Given the description of an element on the screen output the (x, y) to click on. 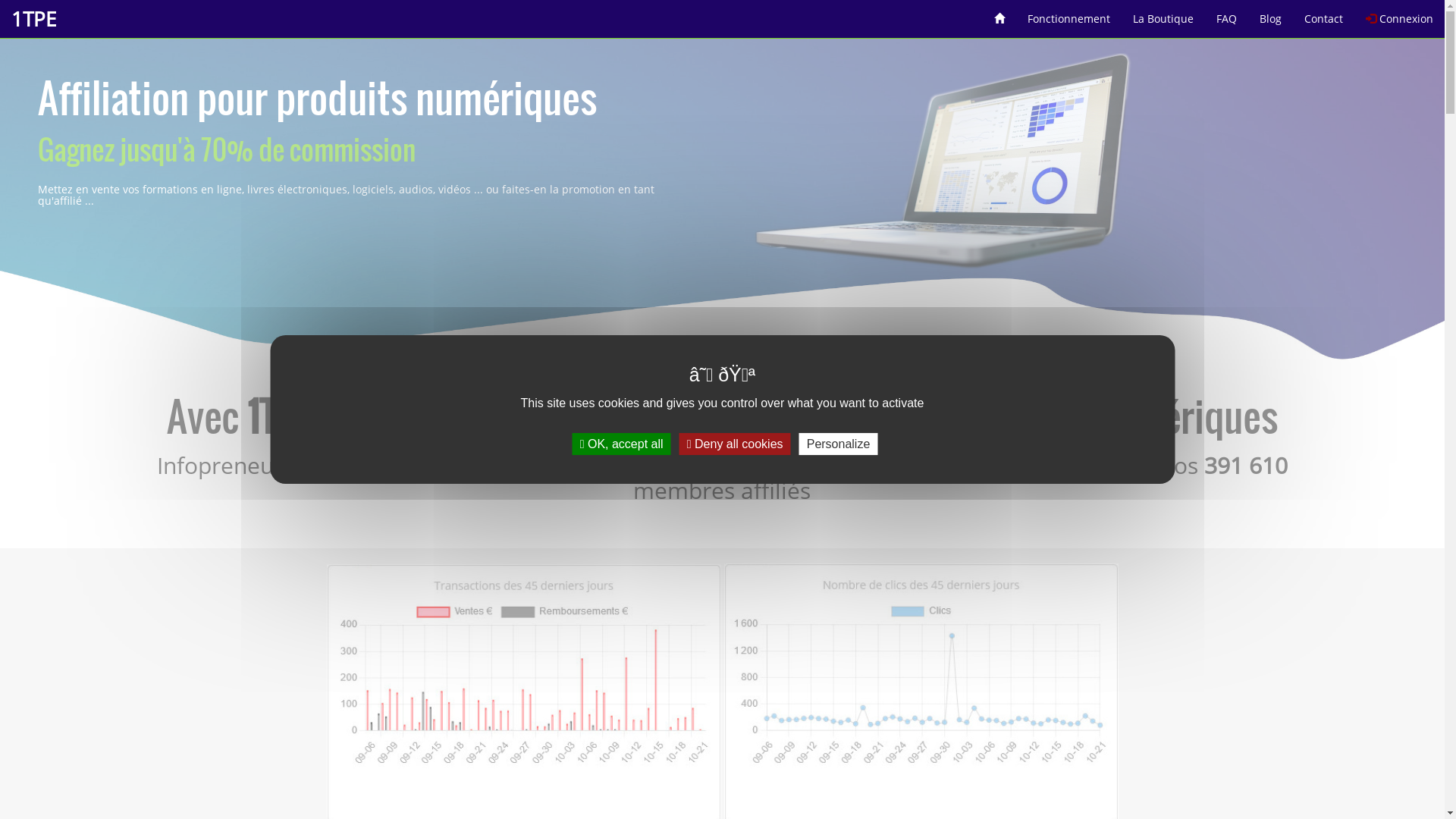
1TPE Element type: text (33, 18)
OK, accept all Element type: text (621, 444)
Blog Element type: text (1270, 13)
Personalize Element type: text (838, 444)
Deny all cookies Element type: text (734, 444)
Fonctionnement Element type: text (1068, 13)
Contact Element type: text (1323, 13)
Connexion Element type: text (1399, 13)
FAQ Element type: text (1226, 13)
La Boutique Element type: text (1162, 13)
